Given the description of an element on the screen output the (x, y) to click on. 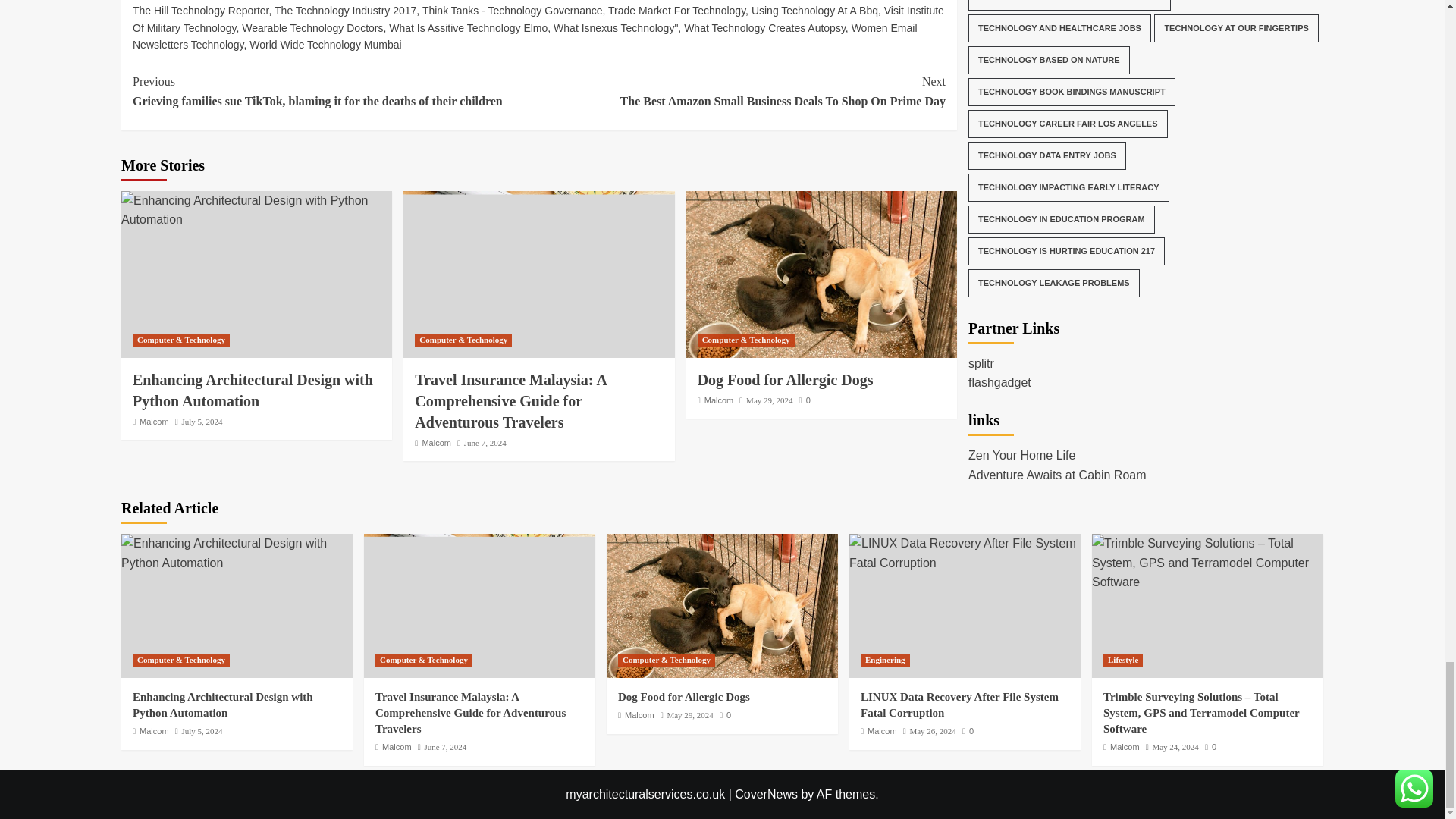
Enhancing Architectural Design with Python Automation (255, 210)
Dog Food for Allergic Dogs (820, 273)
